Given the description of an element on the screen output the (x, y) to click on. 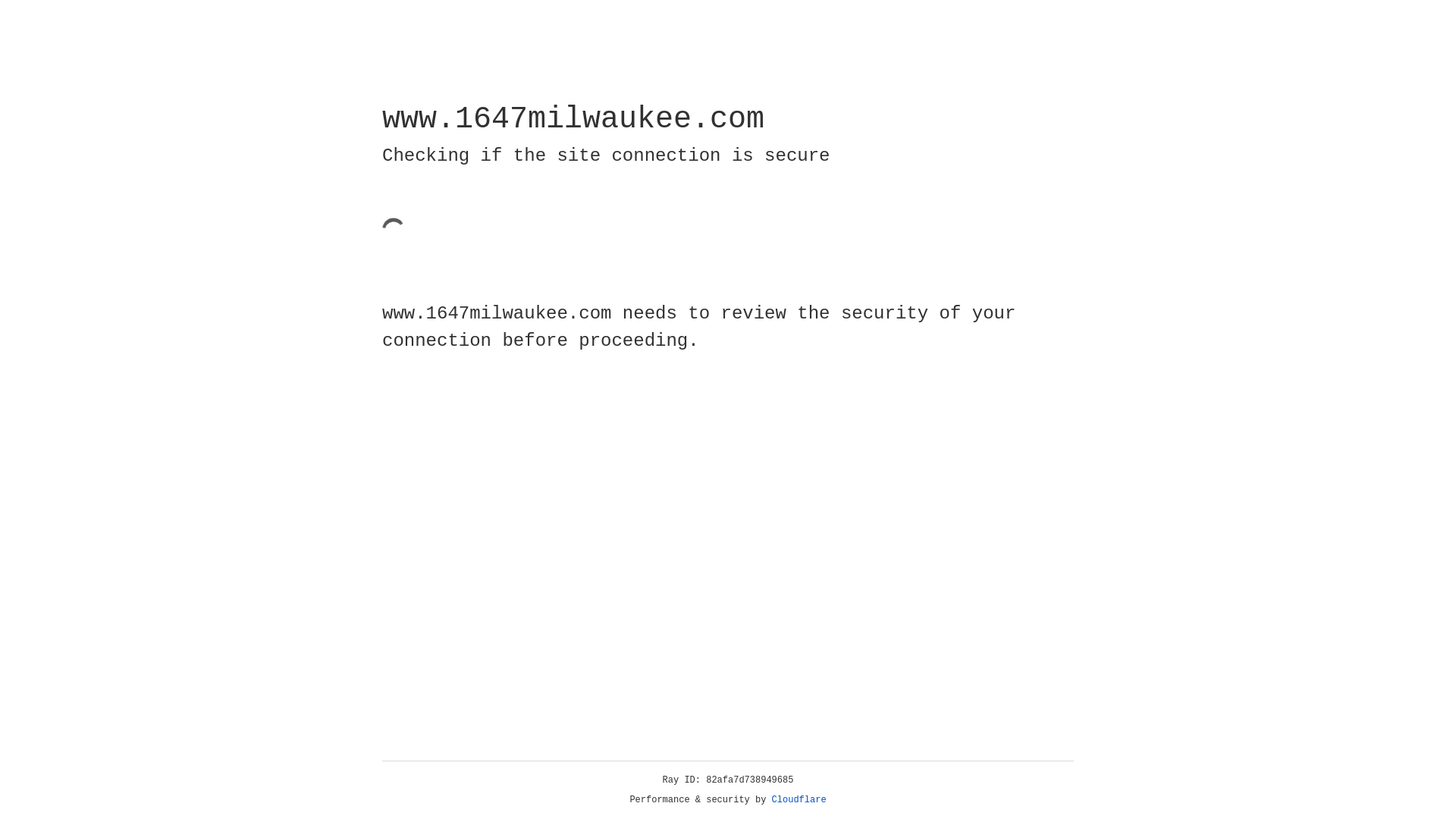
Cloudflare Element type: text (798, 799)
